Given the description of an element on the screen output the (x, y) to click on. 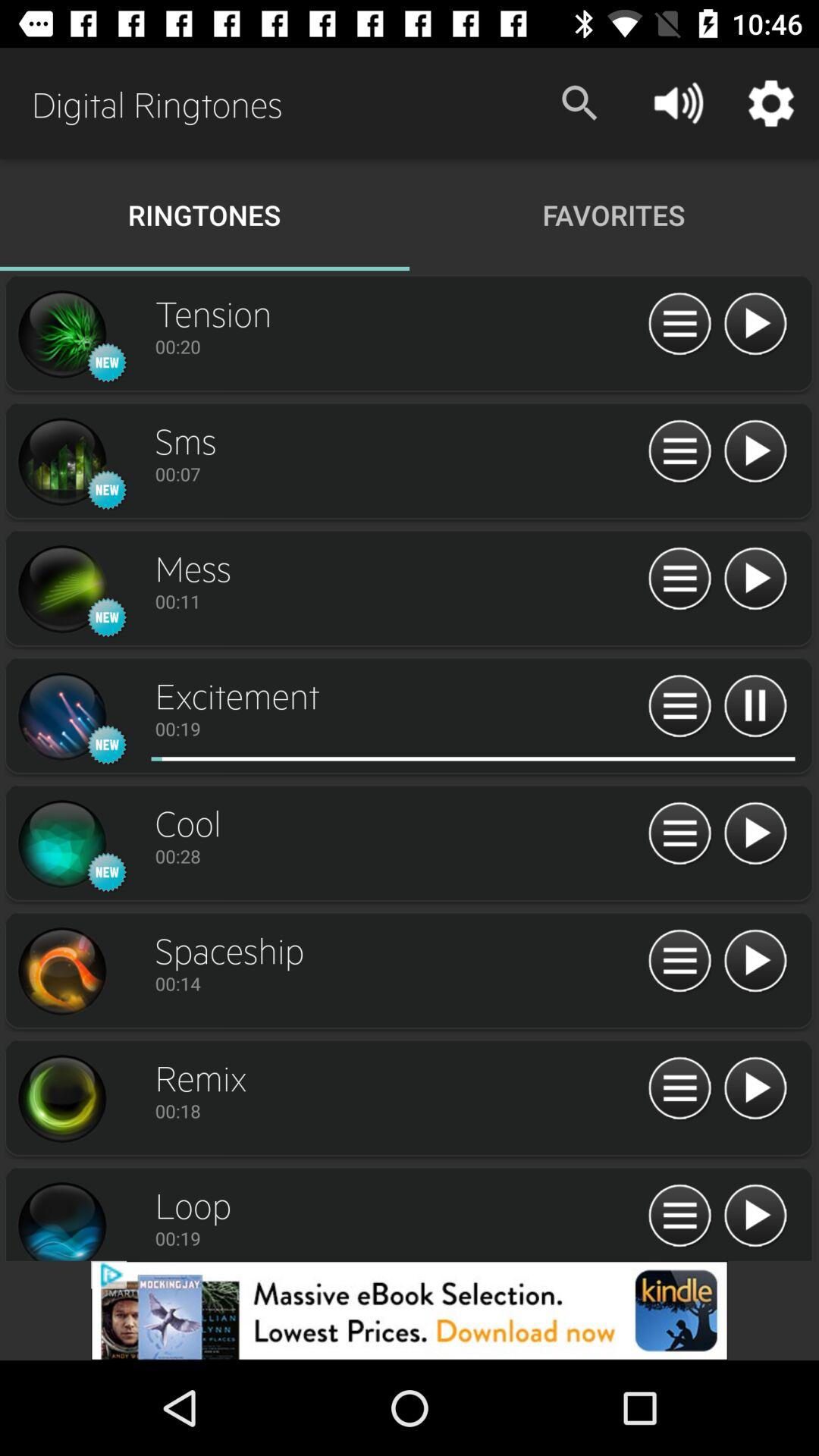
menu dropdown for excitement (679, 706)
